Given the description of an element on the screen output the (x, y) to click on. 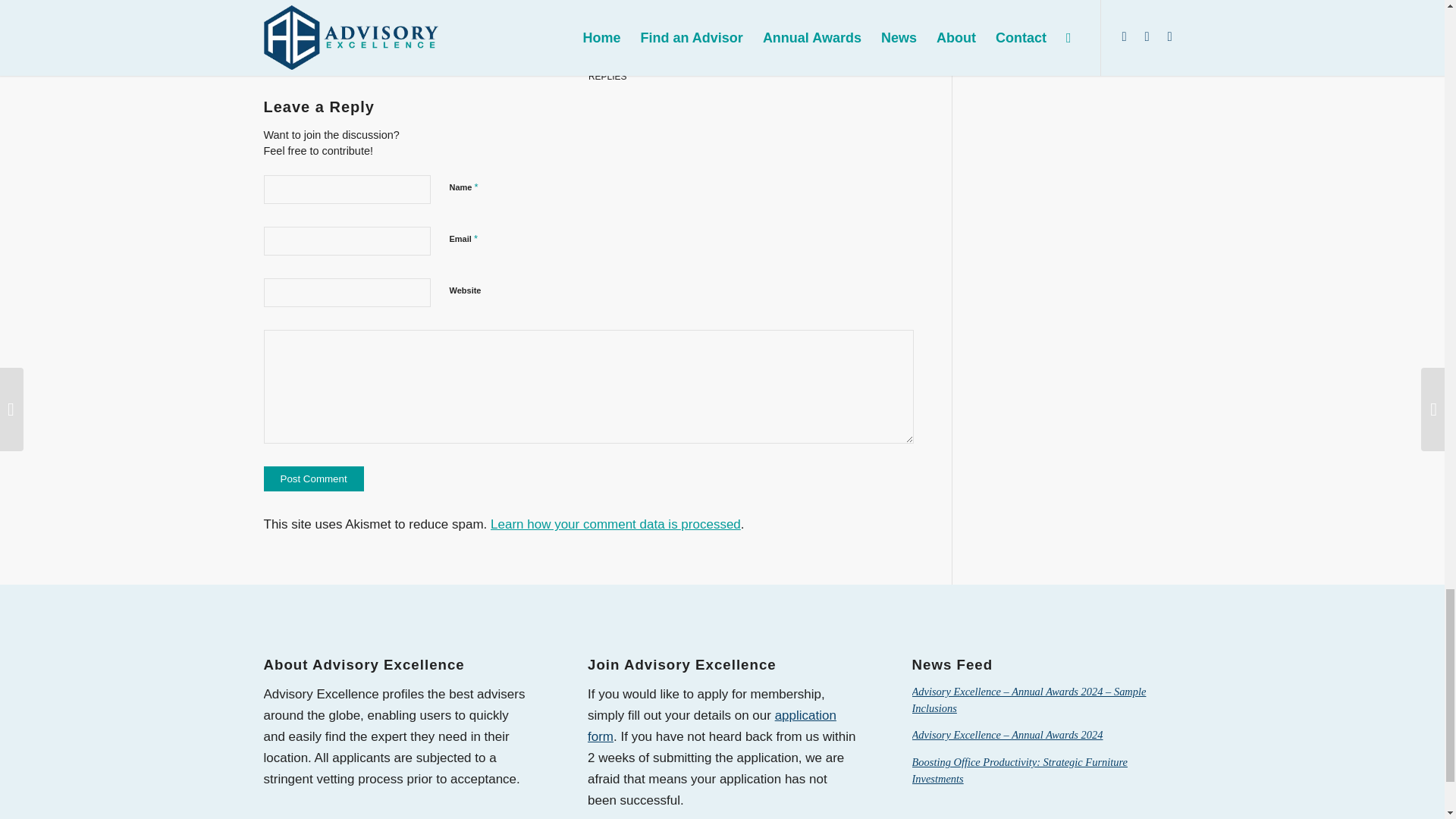
Post Comment (313, 478)
